Given the description of an element on the screen output the (x, y) to click on. 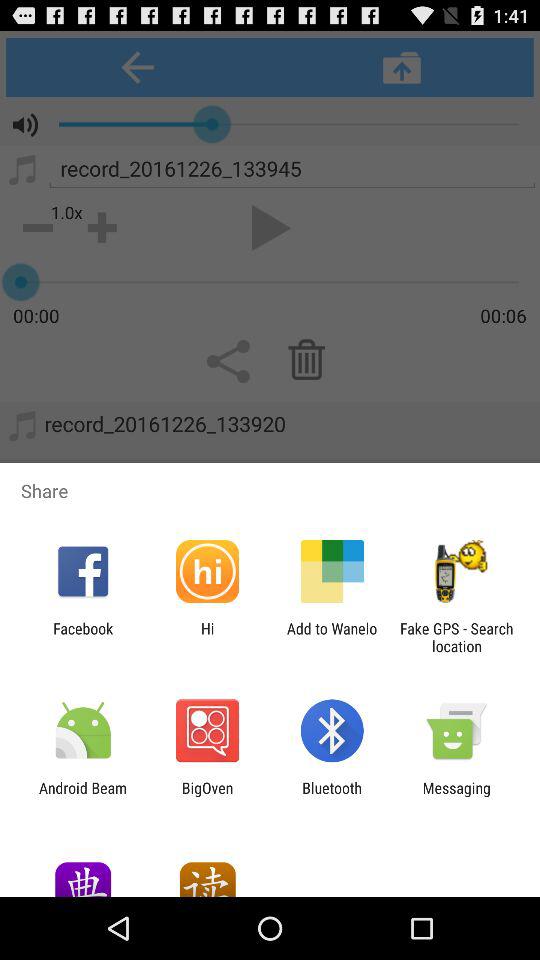
tap the item next to the add to wanelo item (207, 637)
